Given the description of an element on the screen output the (x, y) to click on. 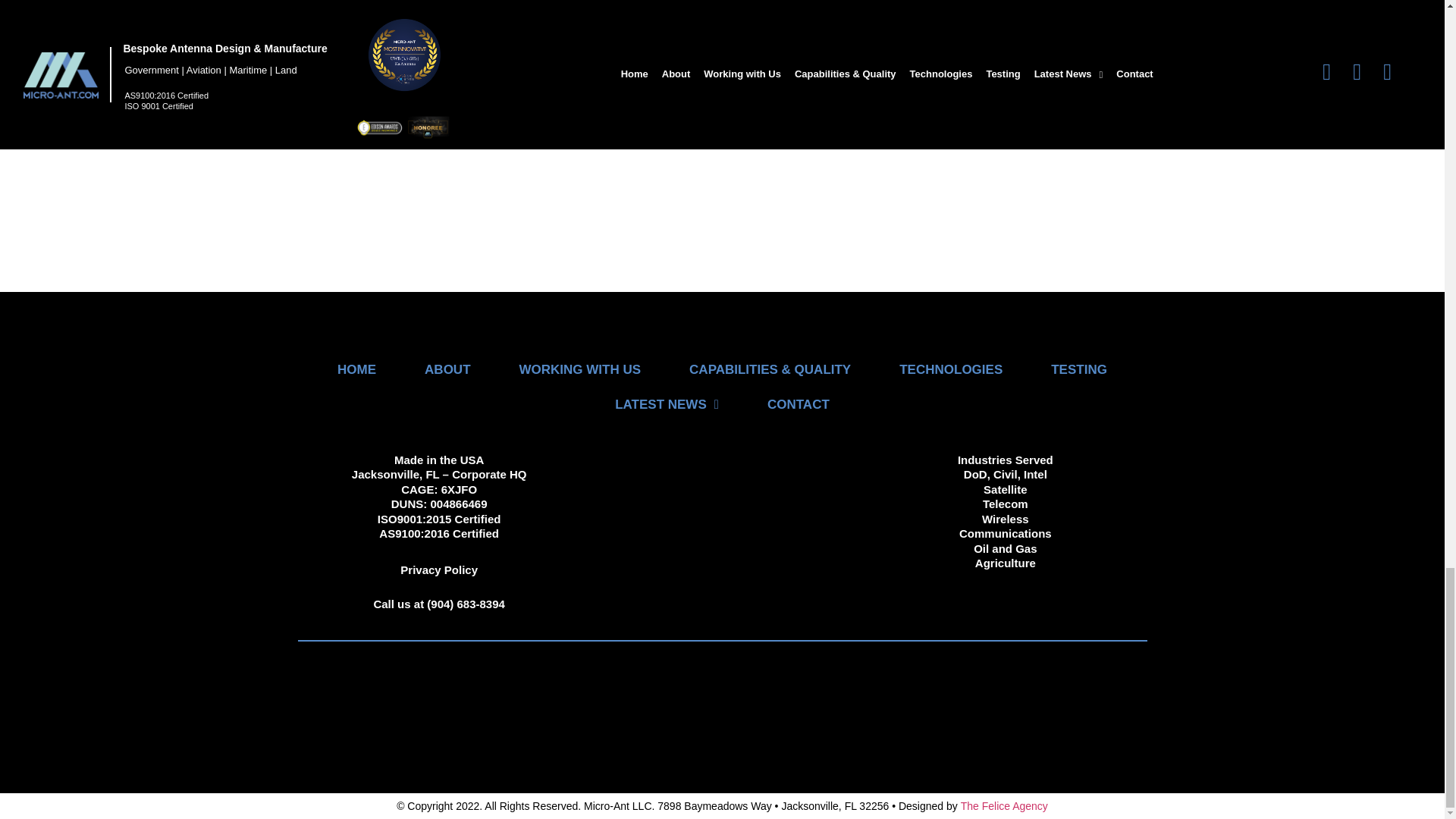
Opens in new tab (1004, 806)
